Given the description of an element on the screen output the (x, y) to click on. 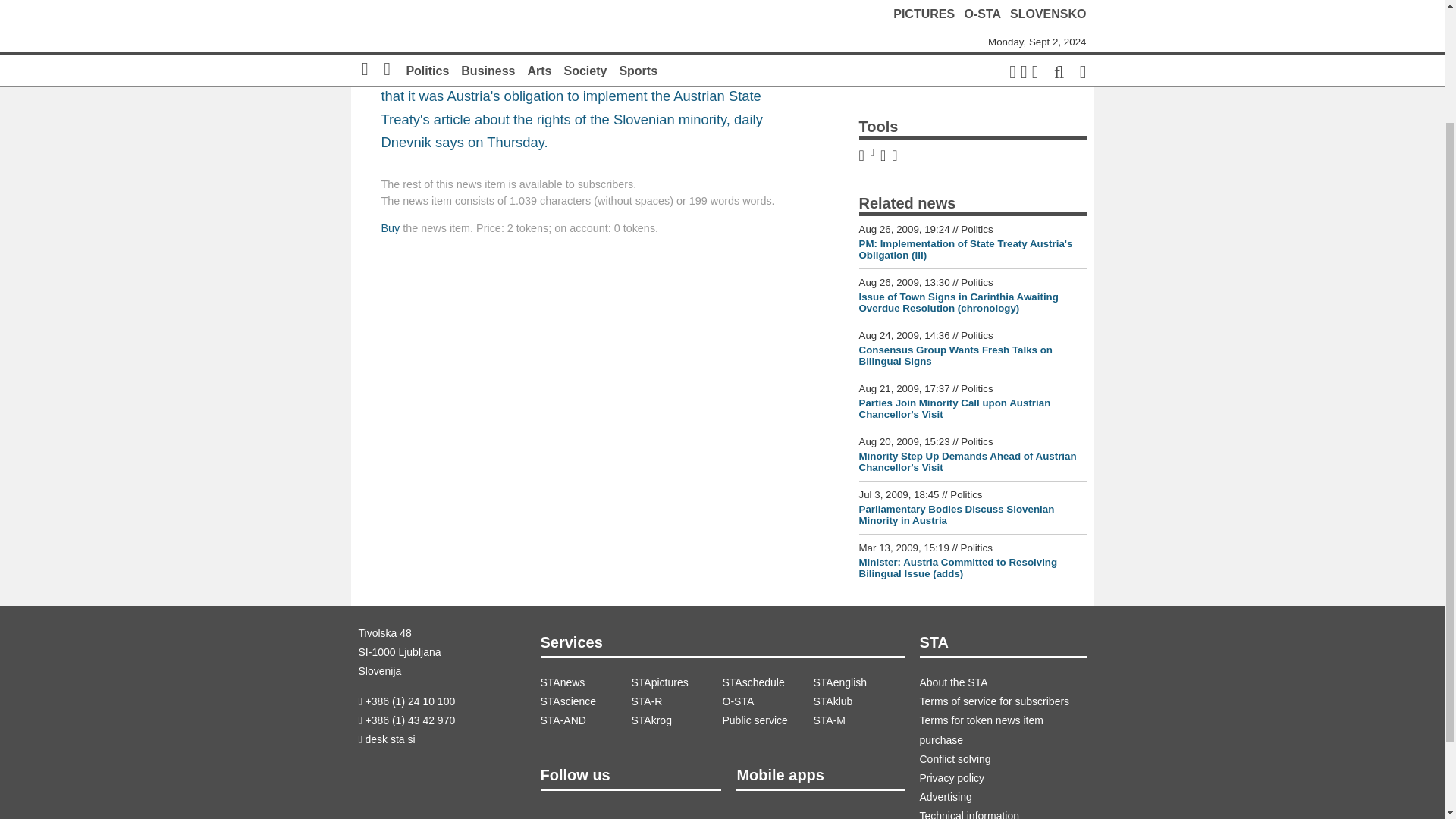
STAenglish (858, 682)
STAnews (585, 682)
Consensus Group Wants Fresh Talks on Bilingual Signs (955, 354)
Buy (389, 227)
Parties Join Minority Call upon Austrian Chancellor's Visit (954, 408)
STAschedule (767, 682)
Parliamentary Bodies Discuss Slovenian Minority in Austria (956, 514)
STAscience (585, 701)
STApictures (676, 682)
